Given the description of an element on the screen output the (x, y) to click on. 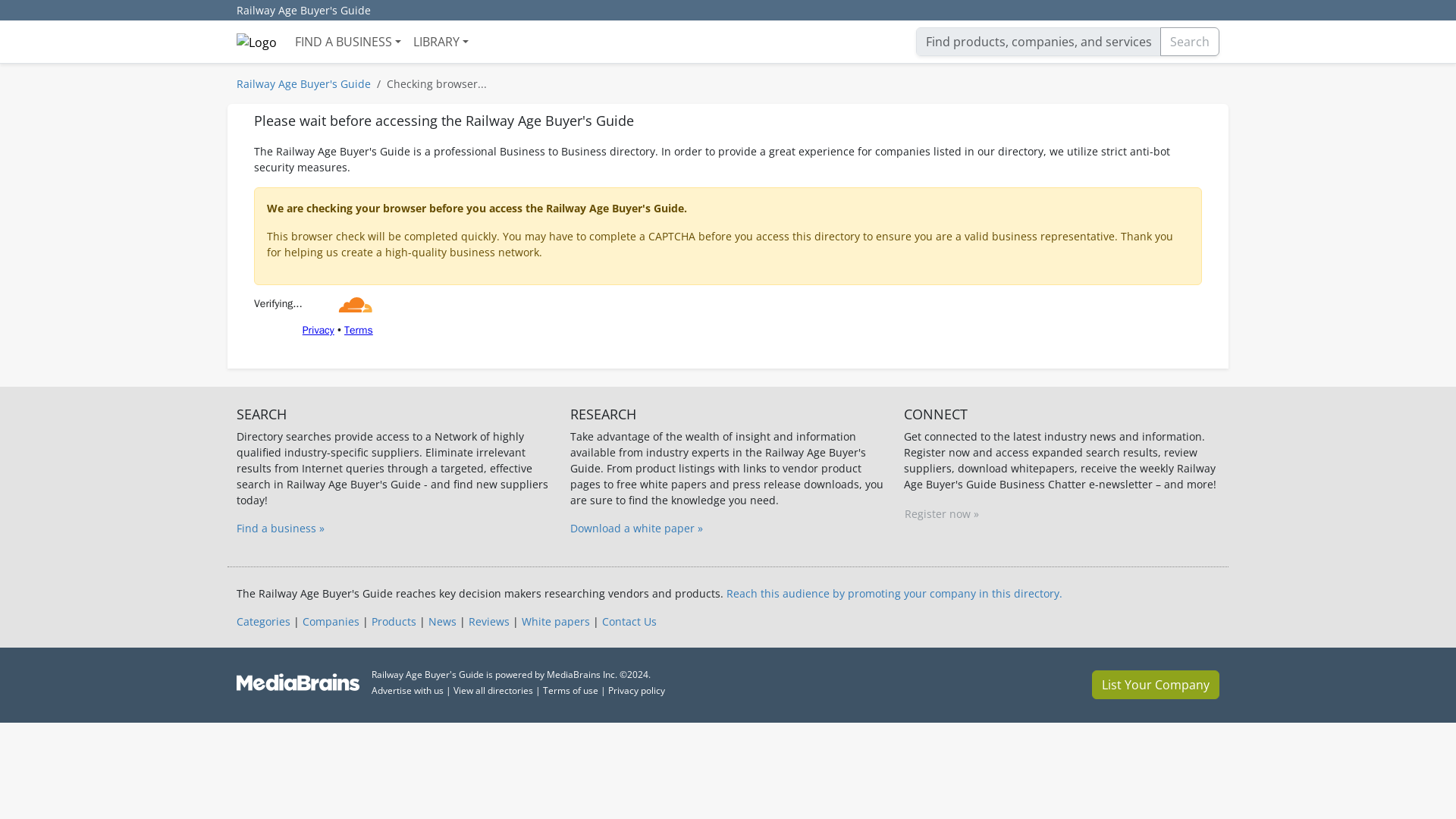
Railway Age Buyer's Guide (303, 10)
News (442, 621)
Contact Us (629, 621)
Terms of use (570, 689)
LIBRARY (440, 41)
Railway Age Buyer's Guide (303, 83)
View all directories (492, 689)
Privacy policy (636, 689)
Categories (262, 621)
Products (393, 621)
FIND A BUSINESS (347, 41)
Search (1190, 41)
Companies (330, 621)
White papers (555, 621)
Reviews (488, 621)
